Given the description of an element on the screen output the (x, y) to click on. 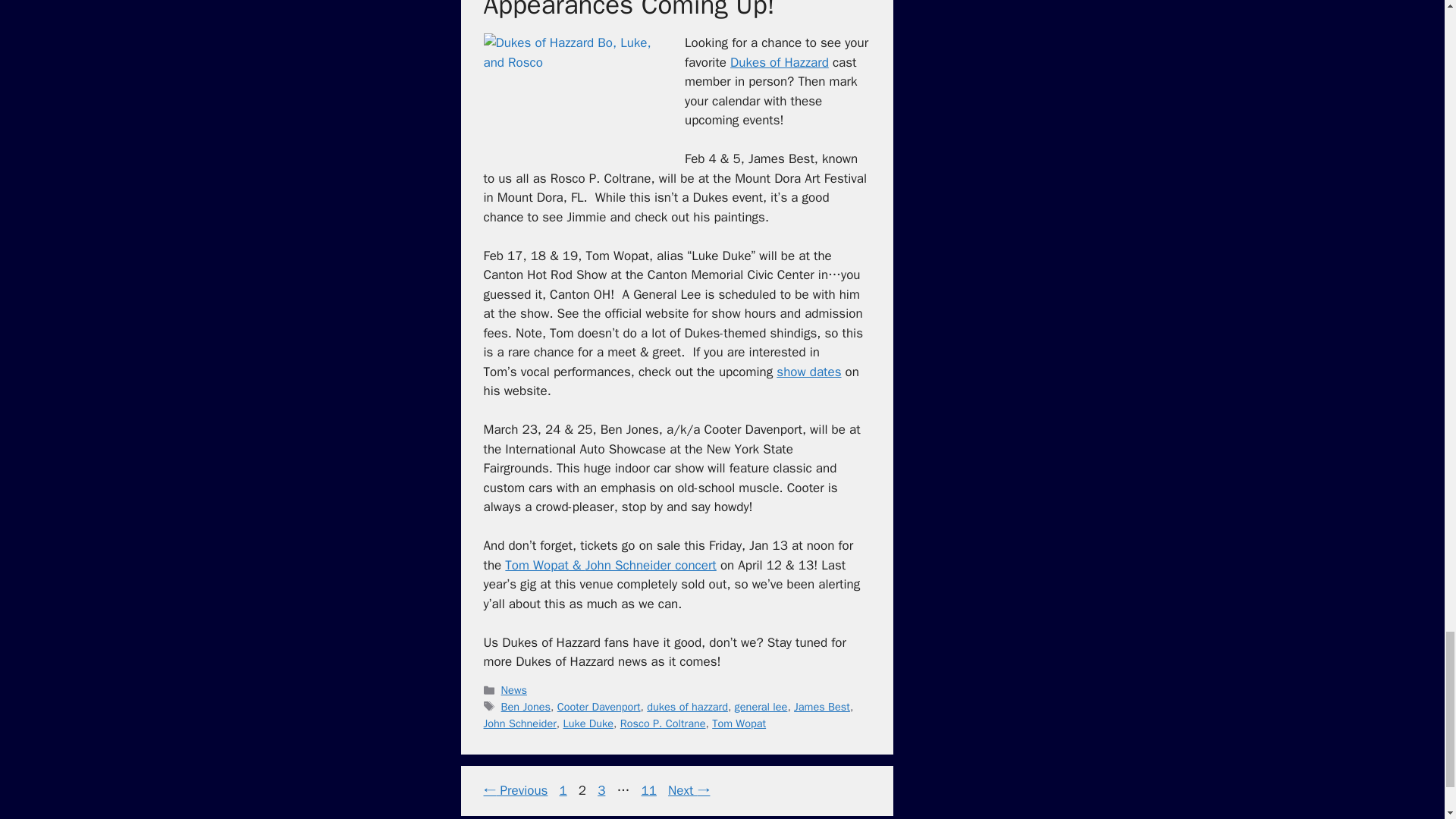
Tom Wopat Appearances and Events (808, 371)
The Dukes of Hazzard (779, 62)
Bo, Luke, and Rosco (574, 97)
Tom Wopat and John Schneider in concert (610, 565)
